Given the description of an element on the screen output the (x, y) to click on. 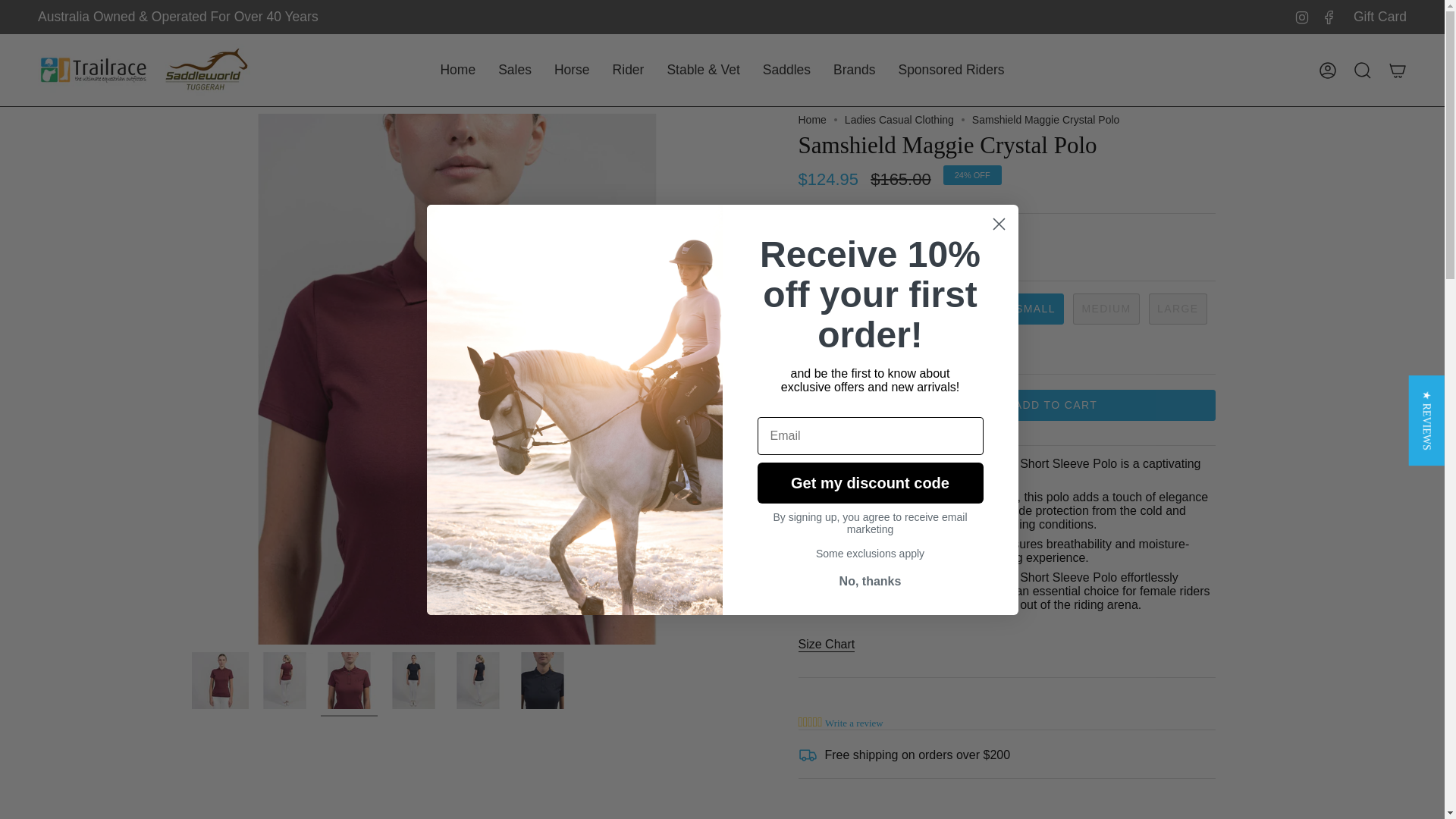
Trailrace on Instagram (1301, 15)
Sales (514, 69)
Trailrace on Facebook (1329, 15)
My Account (1327, 70)
Home (457, 69)
Close dialog 1 (998, 223)
Gift Card (1380, 17)
Facebook (1329, 15)
Search (1362, 70)
Instagram (1301, 15)
Cart (1397, 70)
Horse (572, 69)
Samshield Ladies Size Chart (825, 646)
